Given the description of an element on the screen output the (x, y) to click on. 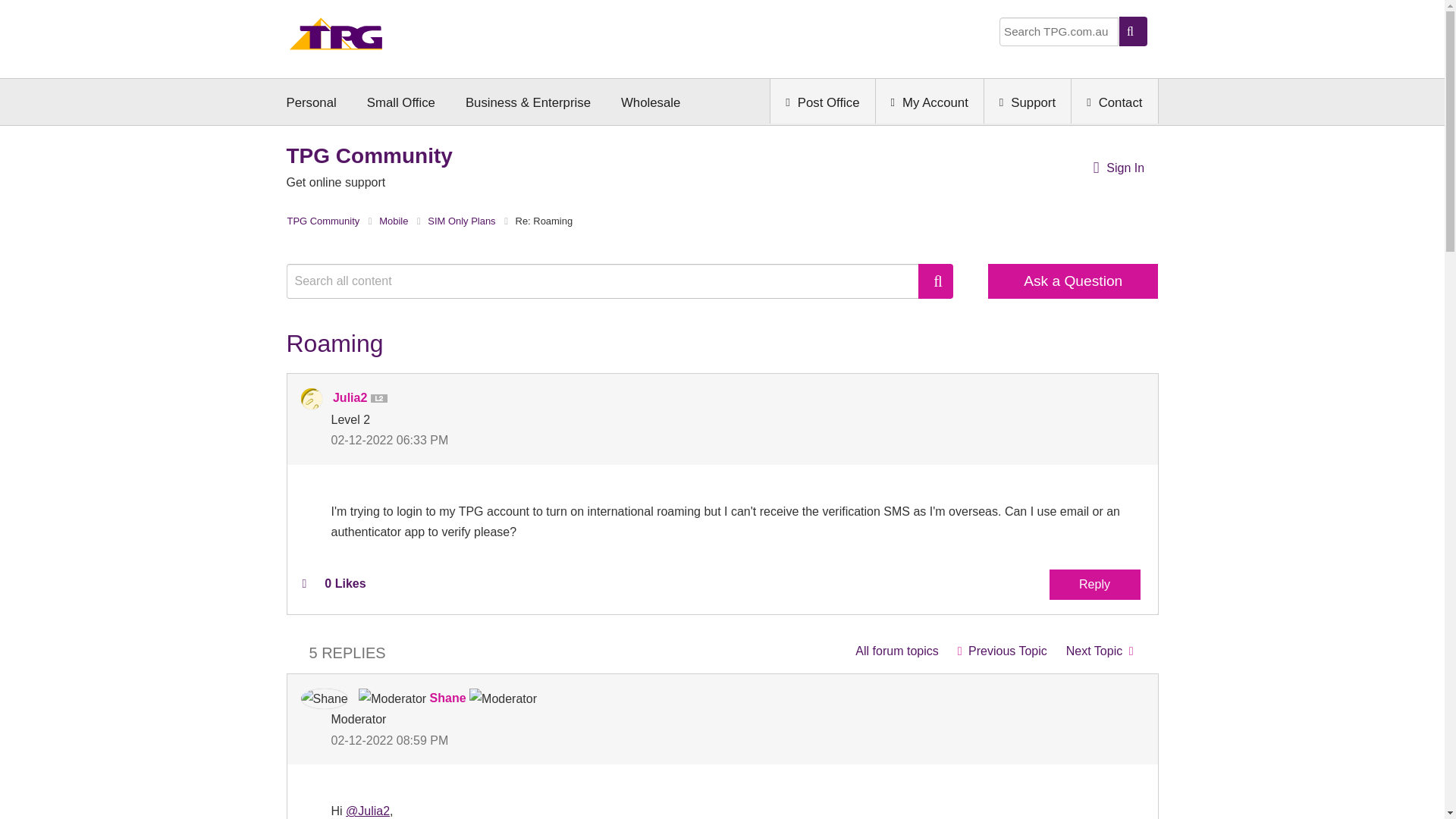
The total number of kudos this post has received. (344, 583)
Shane (323, 698)
Verification code sent to old number (1099, 650)
Moderator (392, 698)
Home (335, 38)
Posted on (526, 439)
SIM Only Plans (896, 650)
Search (935, 280)
cannnot make calls or send texts (1002, 650)
Search (610, 280)
Julia2 (310, 398)
Level 2 (382, 398)
Search (935, 280)
